Given the description of an element on the screen output the (x, y) to click on. 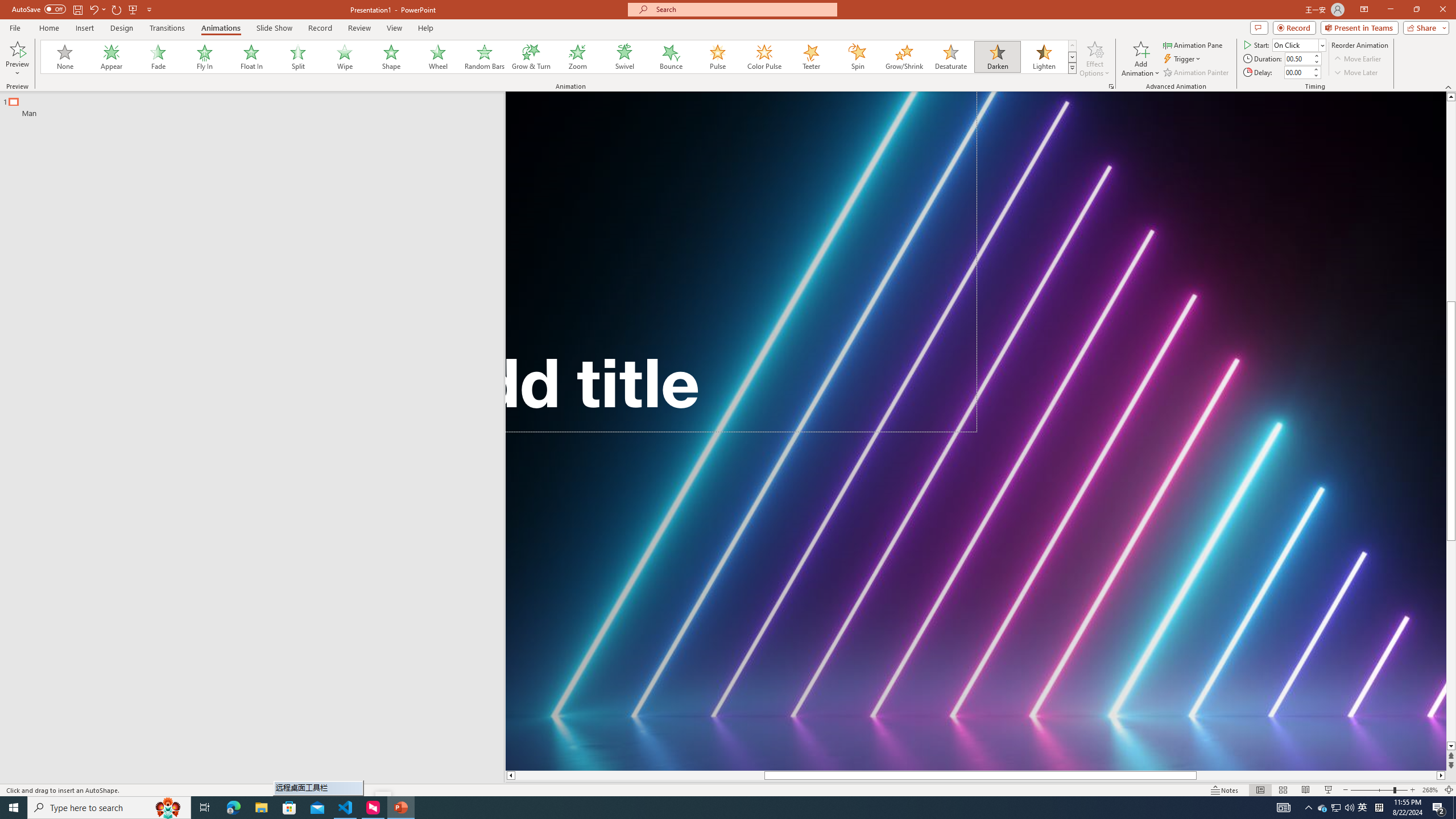
Fade (158, 56)
Pulse (717, 56)
Animation Duration (1298, 58)
Animation Painter (1196, 72)
Grow & Turn (531, 56)
More Options... (1110, 85)
